Given the description of an element on the screen output the (x, y) to click on. 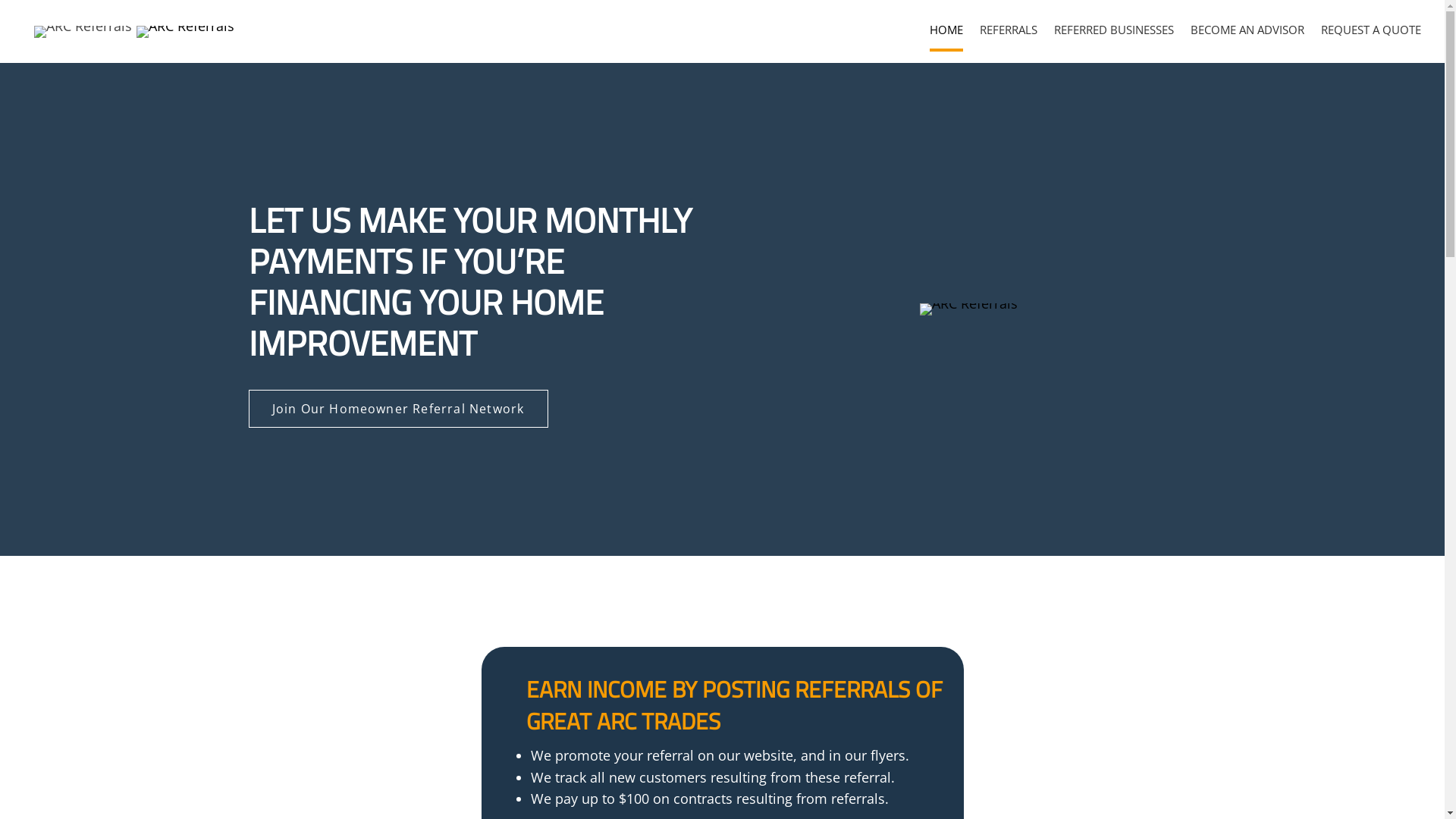
REQUEST A QUOTE Element type: text (1371, 29)
Join Our Homeowner Referral Network Element type: text (398, 408)
ARC logo Element type: hover (82, 31)
HOME Element type: text (946, 29)
REFERRALS Element type: text (1008, 29)
REFERRED BUSINESSES Element type: text (1113, 29)
BECOME AN ADVISOR Element type: text (1247, 29)
